Given the description of an element on the screen output the (x, y) to click on. 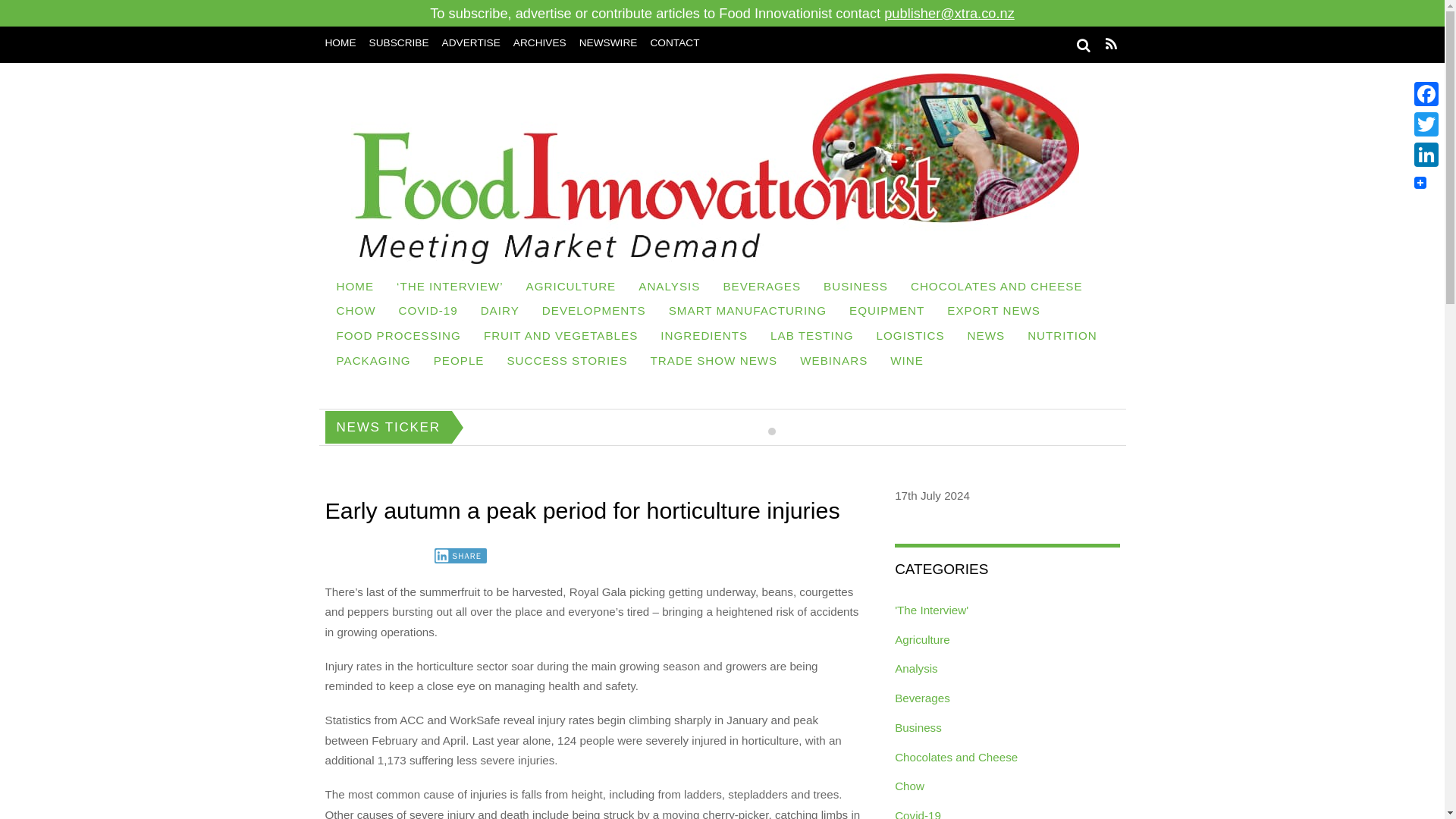
ANALYSIS (669, 288)
NEWSWIRE (608, 42)
HOME (339, 42)
NEWS (986, 337)
ARCHIVES (539, 42)
CHOW (355, 312)
LAB TESTING (811, 337)
SMART MANUFACTURING (748, 312)
FRUIT AND VEGETABLES (560, 337)
AGRICULTURE (571, 288)
TRADE SHOW NEWS (714, 362)
BEVERAGES (761, 288)
BUSINESS (855, 288)
SUCCESS STORIES (567, 362)
DEVELOPMENTS (594, 312)
